Given the description of an element on the screen output the (x, y) to click on. 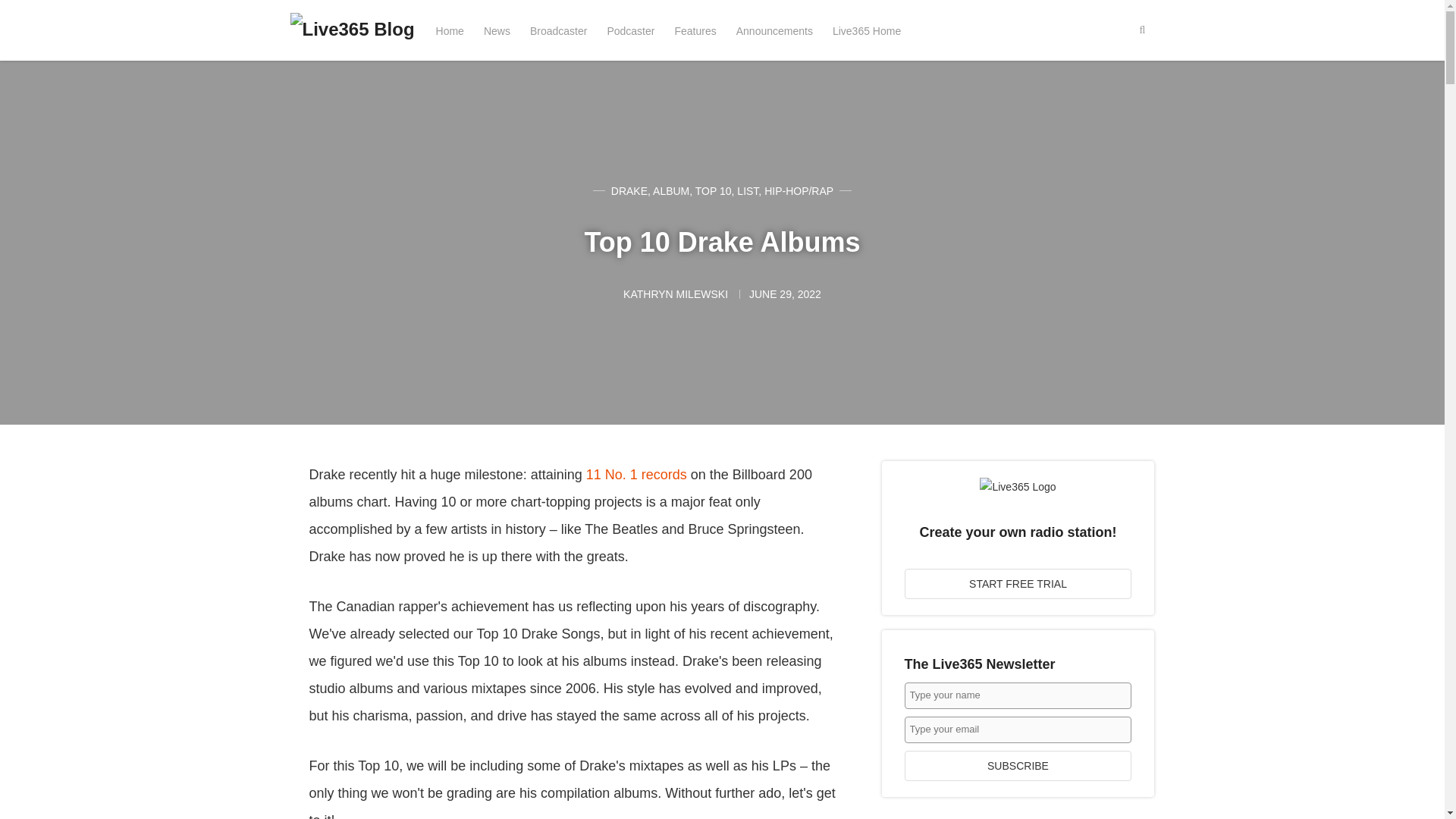
START FREE TRIAL (1017, 583)
Home (449, 30)
DRAKE (629, 191)
TOP 10 (713, 191)
11 No. 1 records (636, 474)
Podcaster (630, 30)
Announcements (774, 30)
ALBUM (670, 191)
Features (695, 30)
KATHRYN MILEWSKI (676, 294)
